Given the description of an element on the screen output the (x, y) to click on. 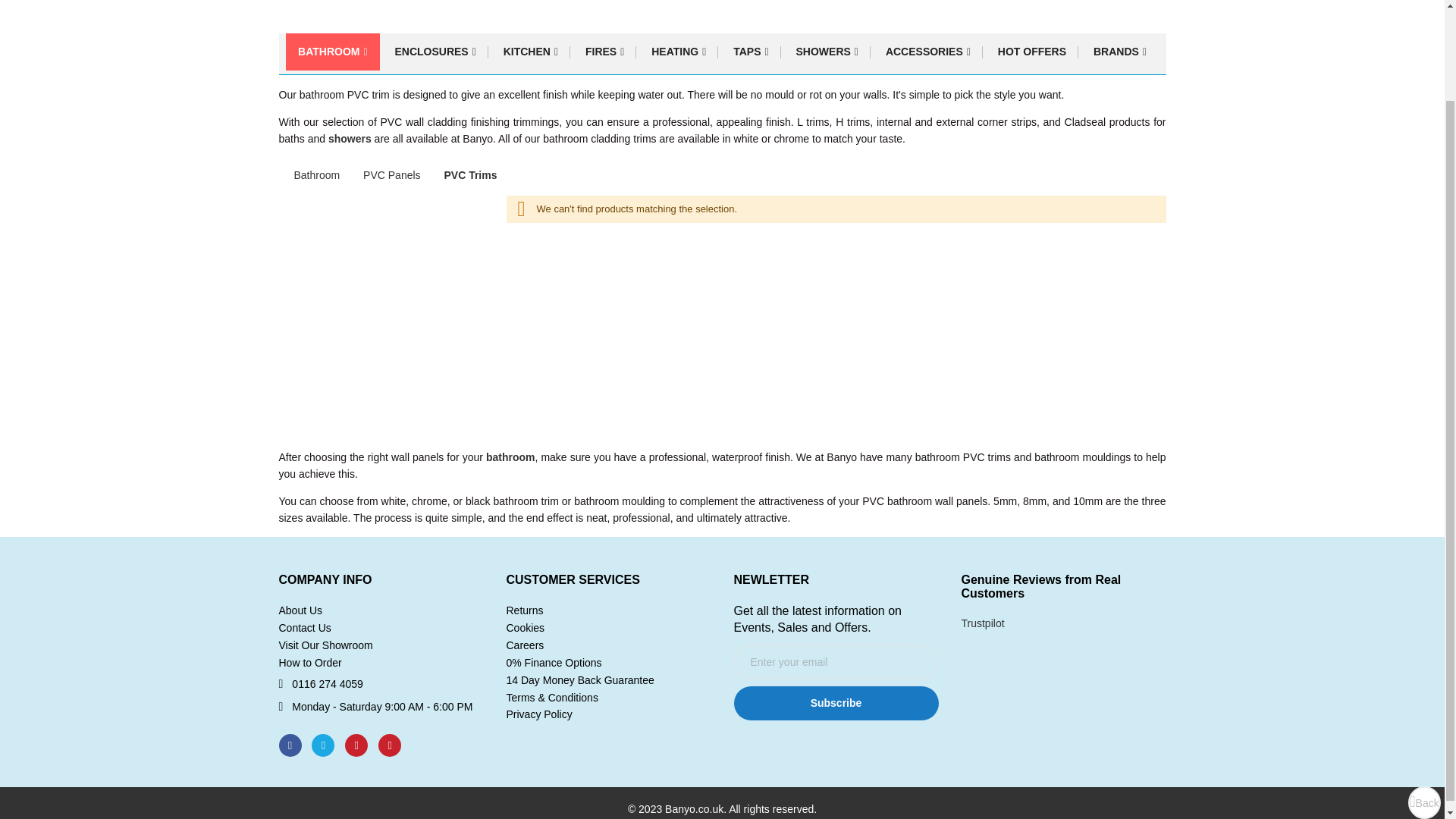
bathroom (510, 457)
Banyo (319, 10)
Subscribe (836, 703)
Banyo (381, 10)
showers (350, 138)
